Given the description of an element on the screen output the (x, y) to click on. 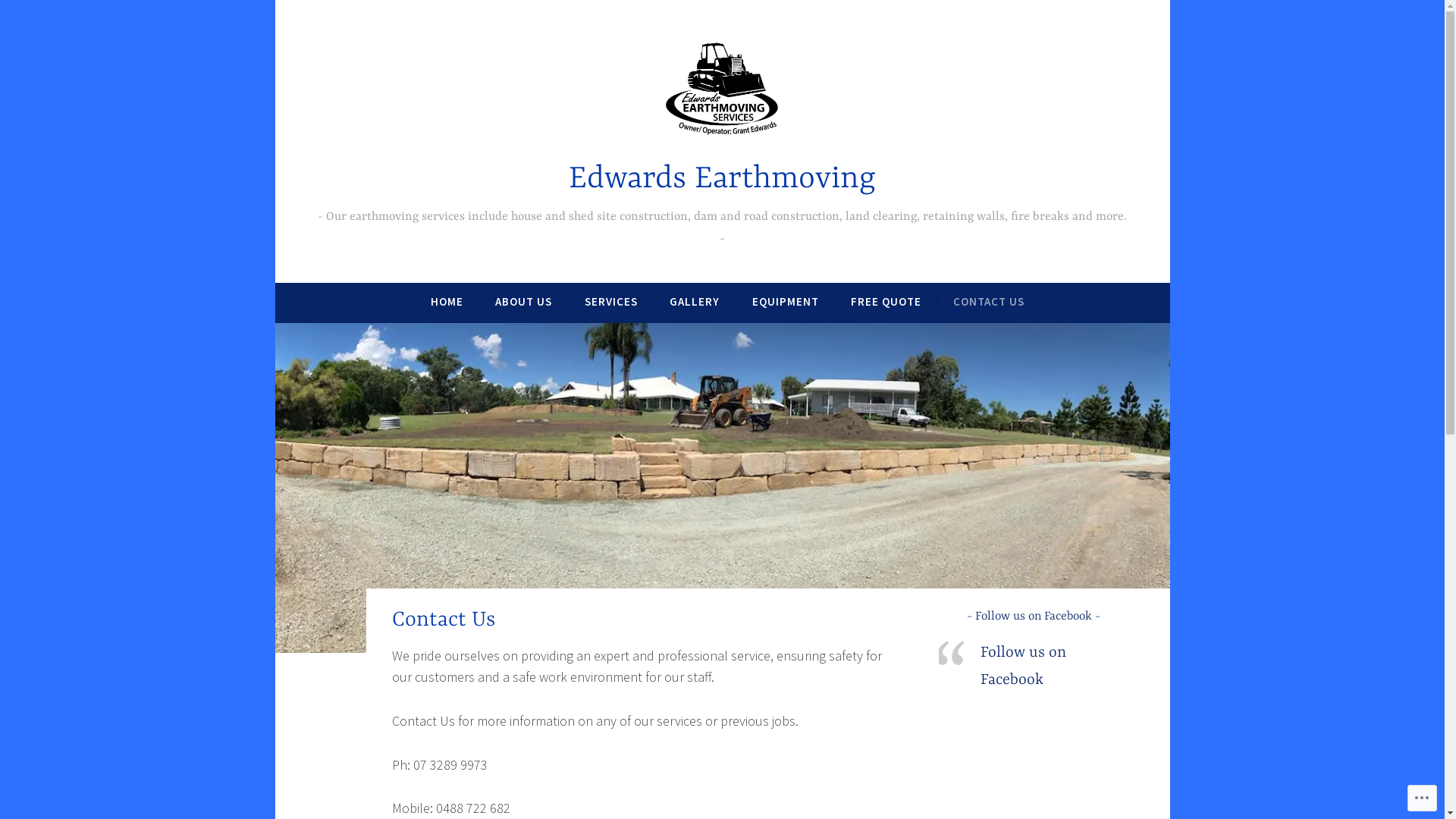
HOME Element type: text (446, 301)
FREE QUOTE Element type: text (885, 301)
EQUIPMENT Element type: text (785, 301)
CONTACT US Element type: text (988, 301)
SERVICES Element type: text (610, 301)
Edwards Earthmoving Element type: text (721, 179)
Follow us on Facebook Element type: text (1023, 666)
Follow us on Facebook Element type: text (1033, 616)
GALLERY Element type: text (694, 301)
ABOUT US Element type: text (523, 301)
